Given the description of an element on the screen output the (x, y) to click on. 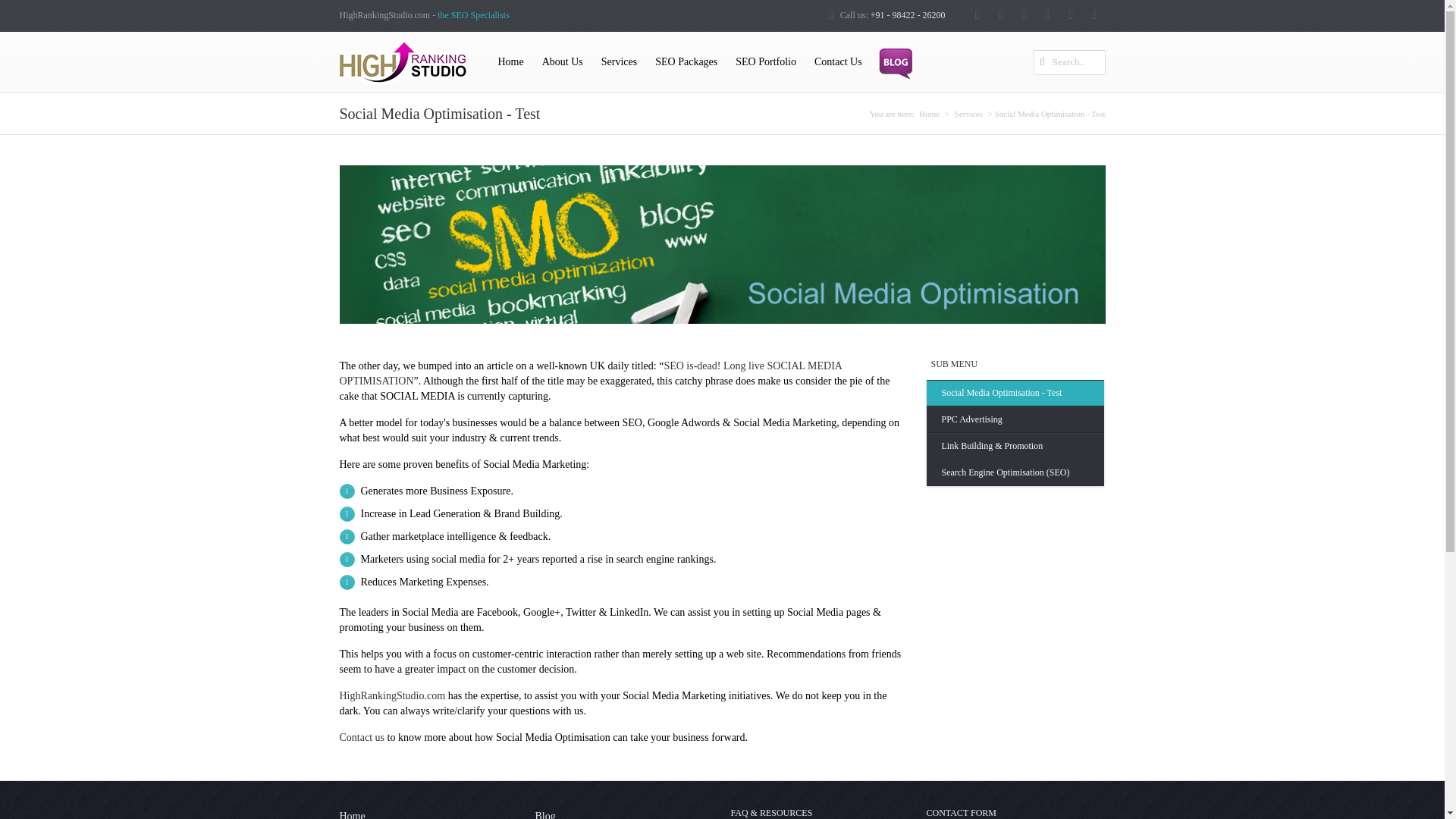
Contact us (363, 737)
Home (928, 112)
SEO Portfolio (765, 61)
Blog (624, 813)
SEO Packages (686, 61)
Enter the terms you wish to search for. (1068, 62)
Social Media Optimisation - Test (1014, 392)
PPC Advertising (1014, 419)
Services (968, 112)
Contact Us (837, 61)
Home (427, 813)
About Us (562, 61)
Search.. (1068, 62)
